Given the description of an element on the screen output the (x, y) to click on. 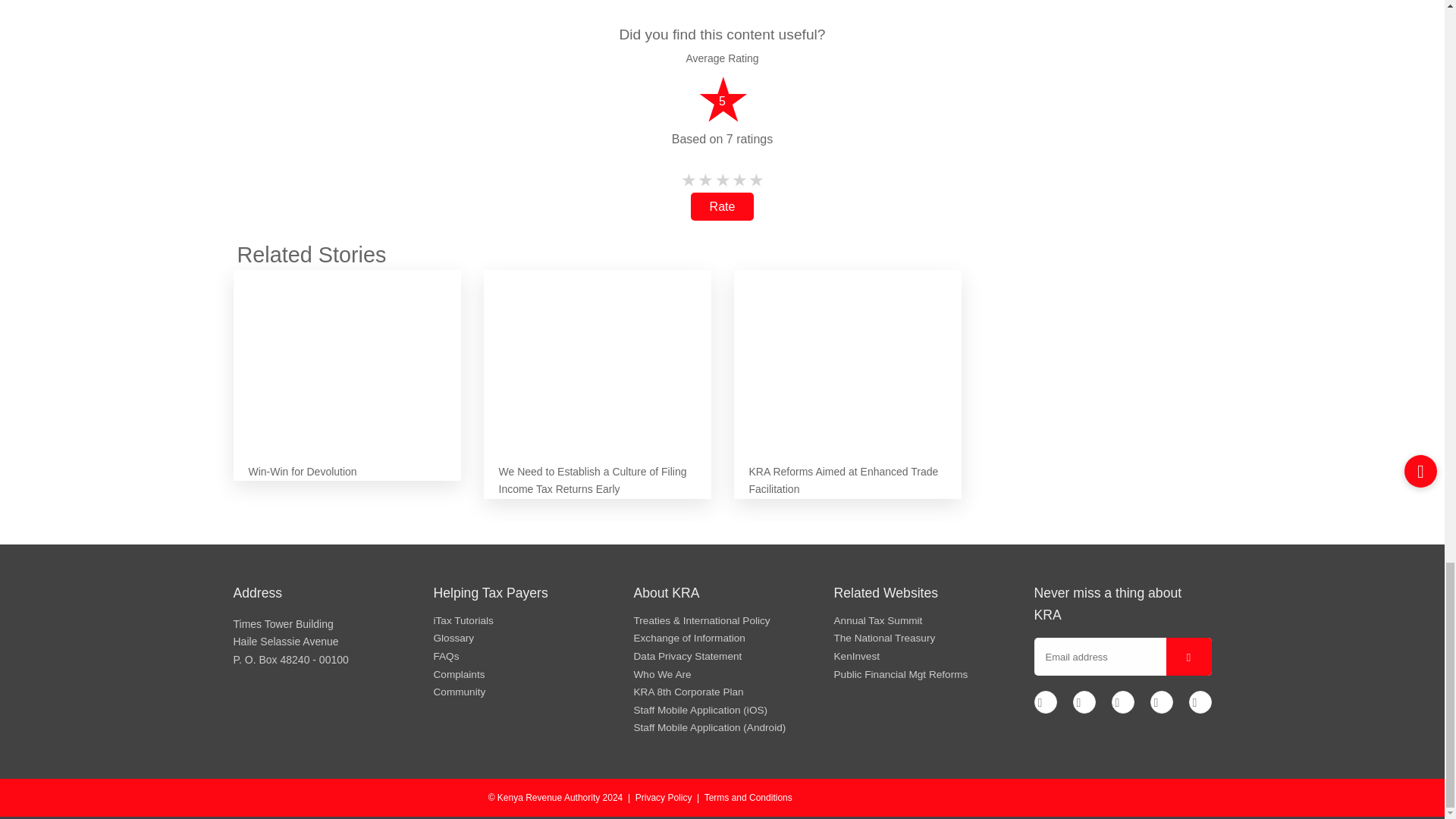
Win-Win for Devolution (346, 353)
KRA Reforms Aimed at Enhanced Trade Facilitation (846, 353)
